Given the description of an element on the screen output the (x, y) to click on. 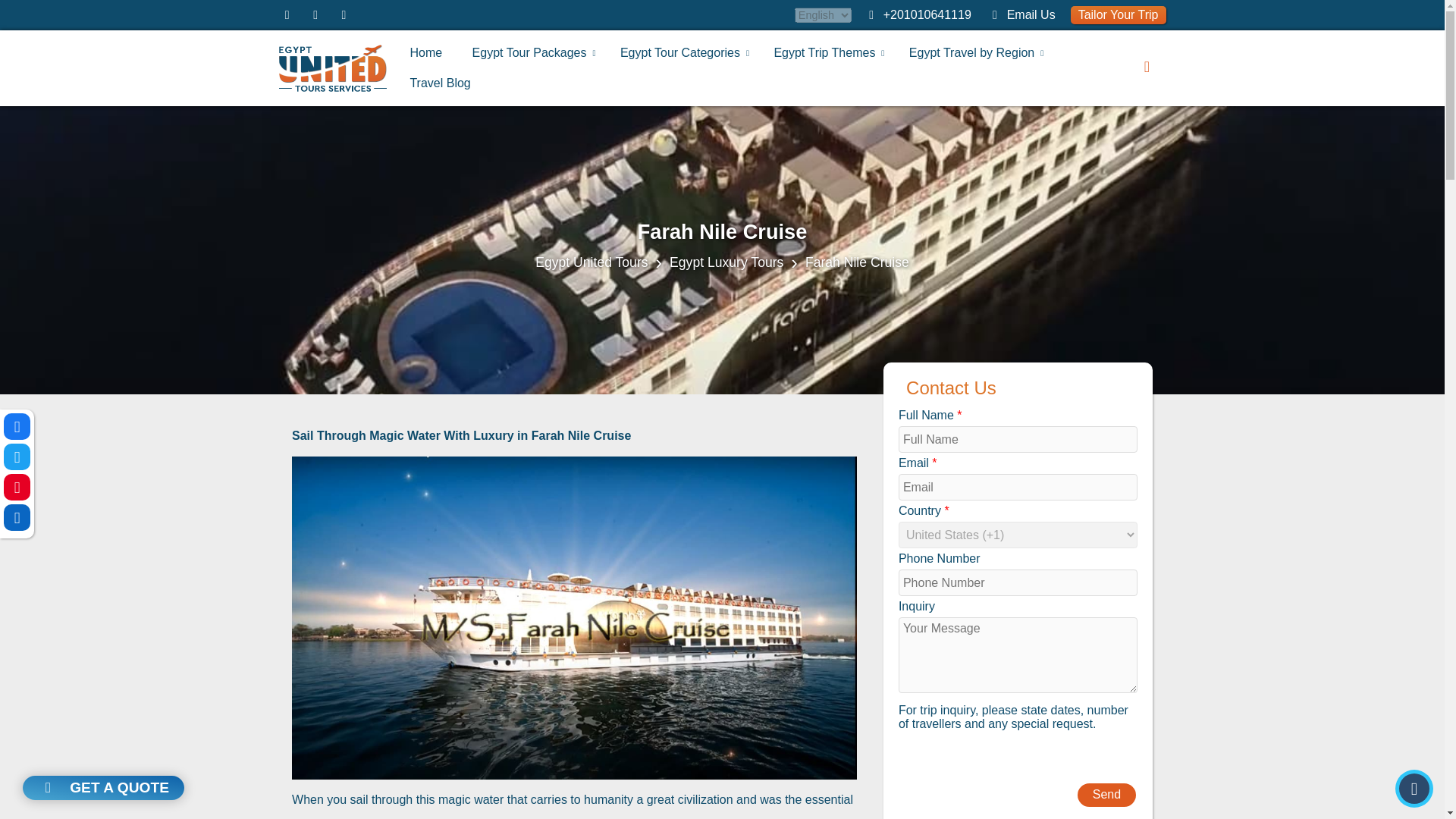
facebook (287, 14)
twitter (315, 14)
Egypt Tour Packages (529, 52)
Share on linkedin (17, 517)
Send (1106, 795)
Share on twitter (17, 456)
Tailor Your Trip (1118, 14)
Email Us (1031, 14)
Share on pinterest (17, 487)
Home (425, 52)
